Given the description of an element on the screen output the (x, y) to click on. 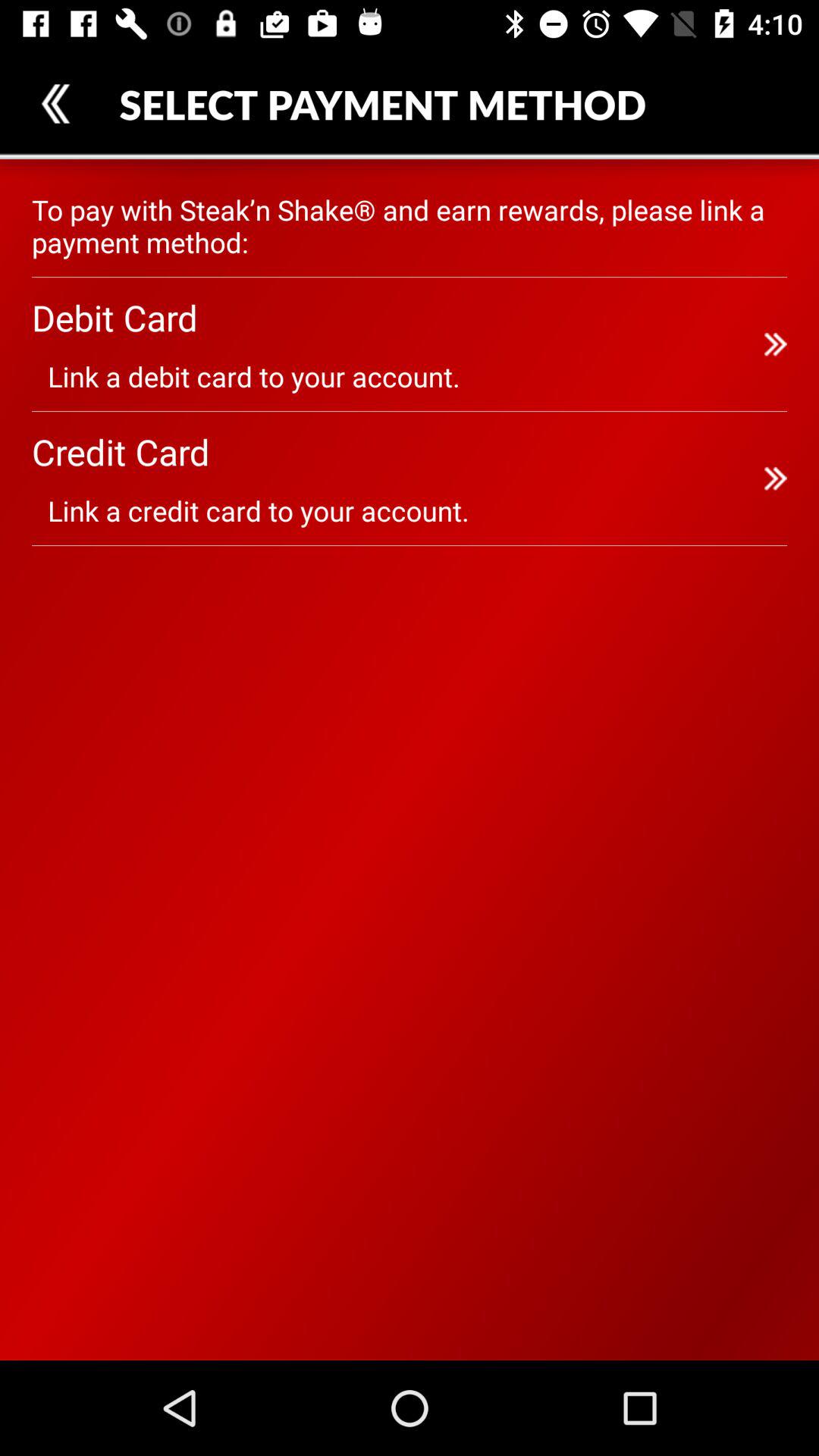
select the icon next to select payment method (55, 103)
